Given the description of an element on the screen output the (x, y) to click on. 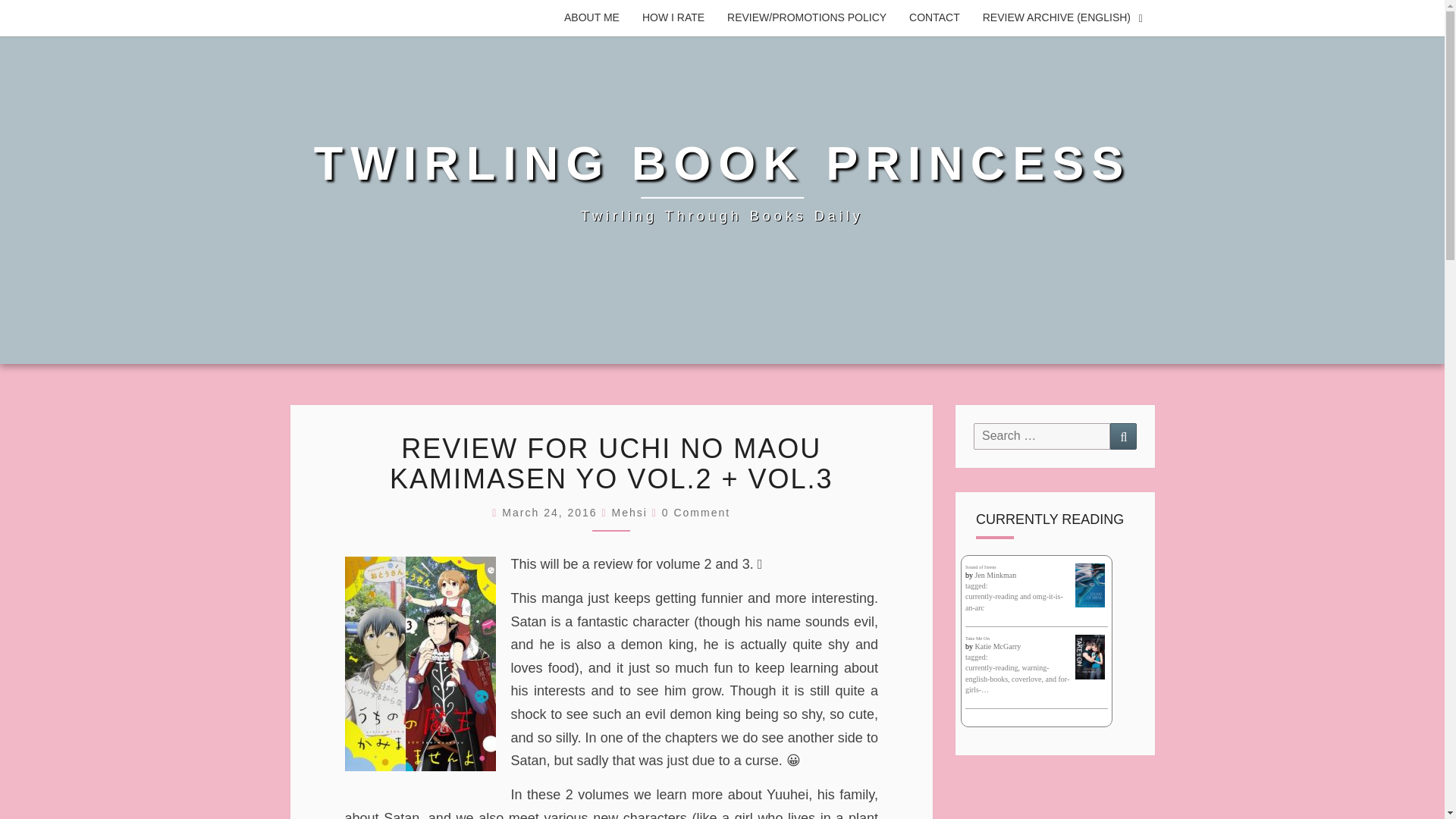
Twirling Book Princess (722, 181)
CONTACT (934, 18)
Search for: (1041, 436)
HOW I RATE (673, 18)
12:23 (551, 512)
ABOUT ME (591, 18)
View all posts by Mehsi (629, 512)
